Given the description of an element on the screen output the (x, y) to click on. 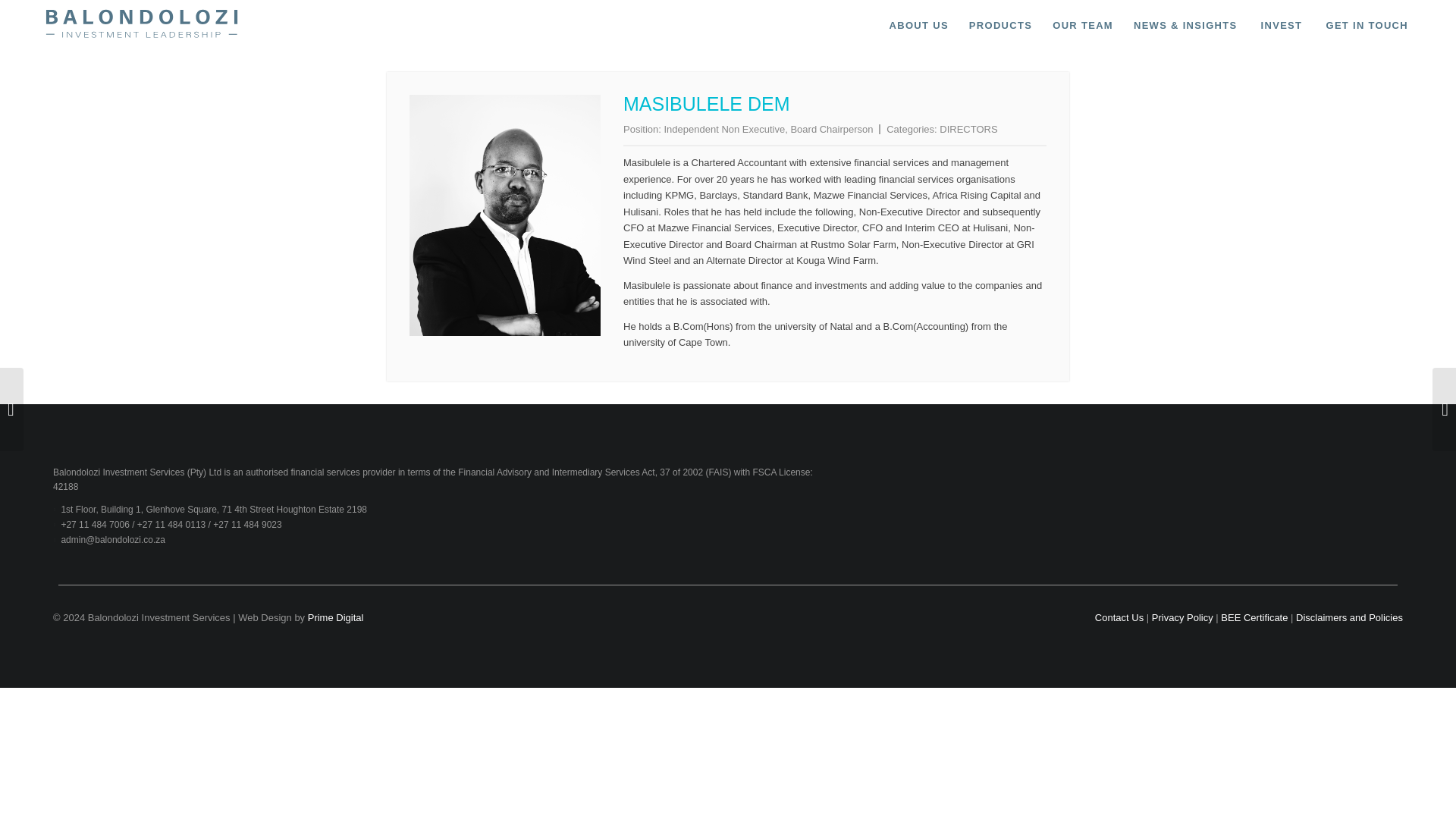
OUR TEAM (1082, 24)
PRODUCTS (1000, 24)
INVEST (1280, 24)
GET IN TOUCH (1366, 24)
ABOUT US (918, 24)
